Given the description of an element on the screen output the (x, y) to click on. 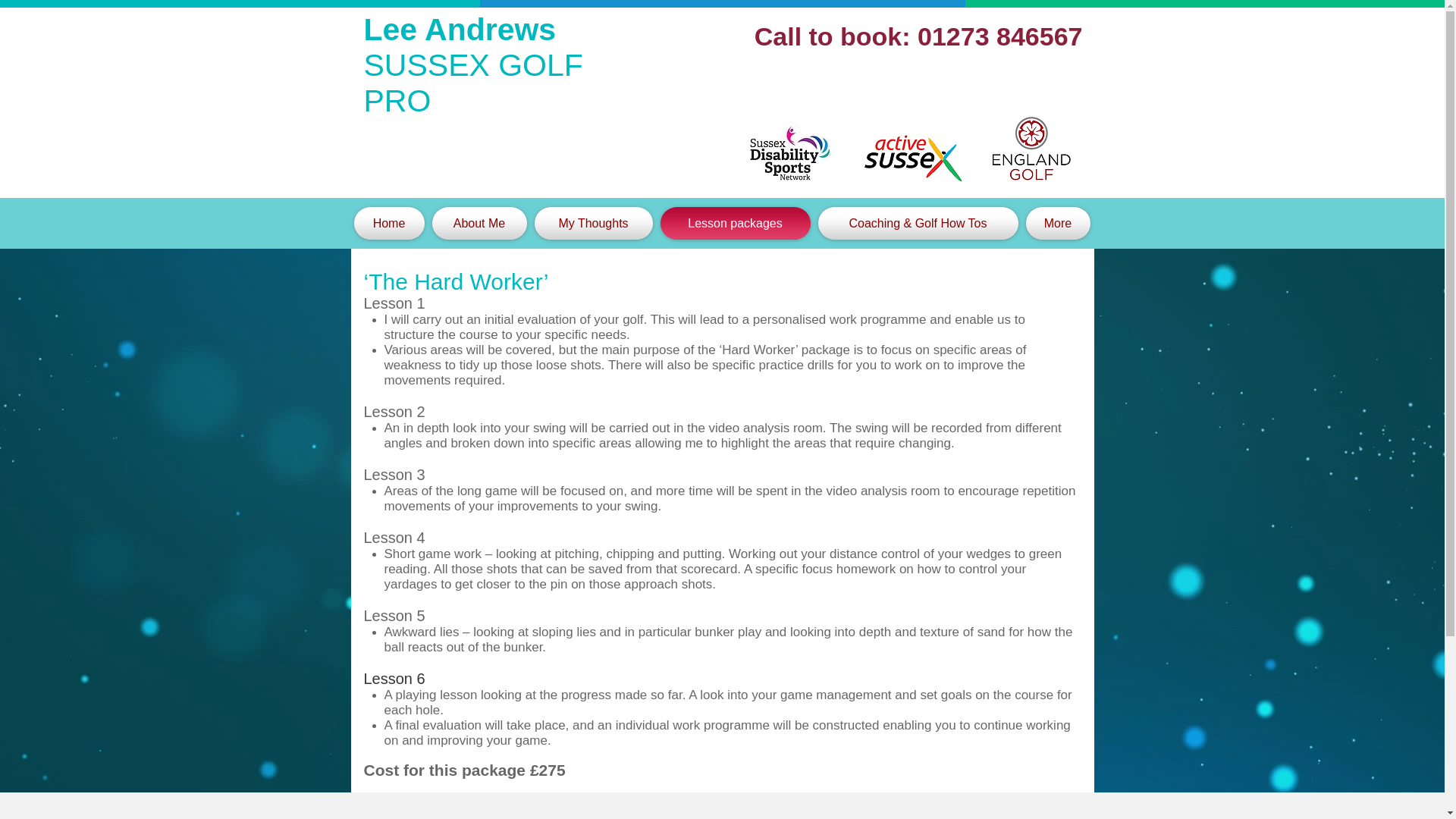
Logo for Sussex Disability Sports Network (789, 152)
Logo for Active Sussex (912, 157)
Home (390, 223)
About Me (478, 223)
Lee Andrews (460, 29)
Call to book: 01273 846567 (918, 36)
SUSSEX GOLF PRO (473, 82)
Lesson packages (734, 223)
Logo for England Golf (1029, 148)
My Thoughts (593, 223)
